Given the description of an element on the screen output the (x, y) to click on. 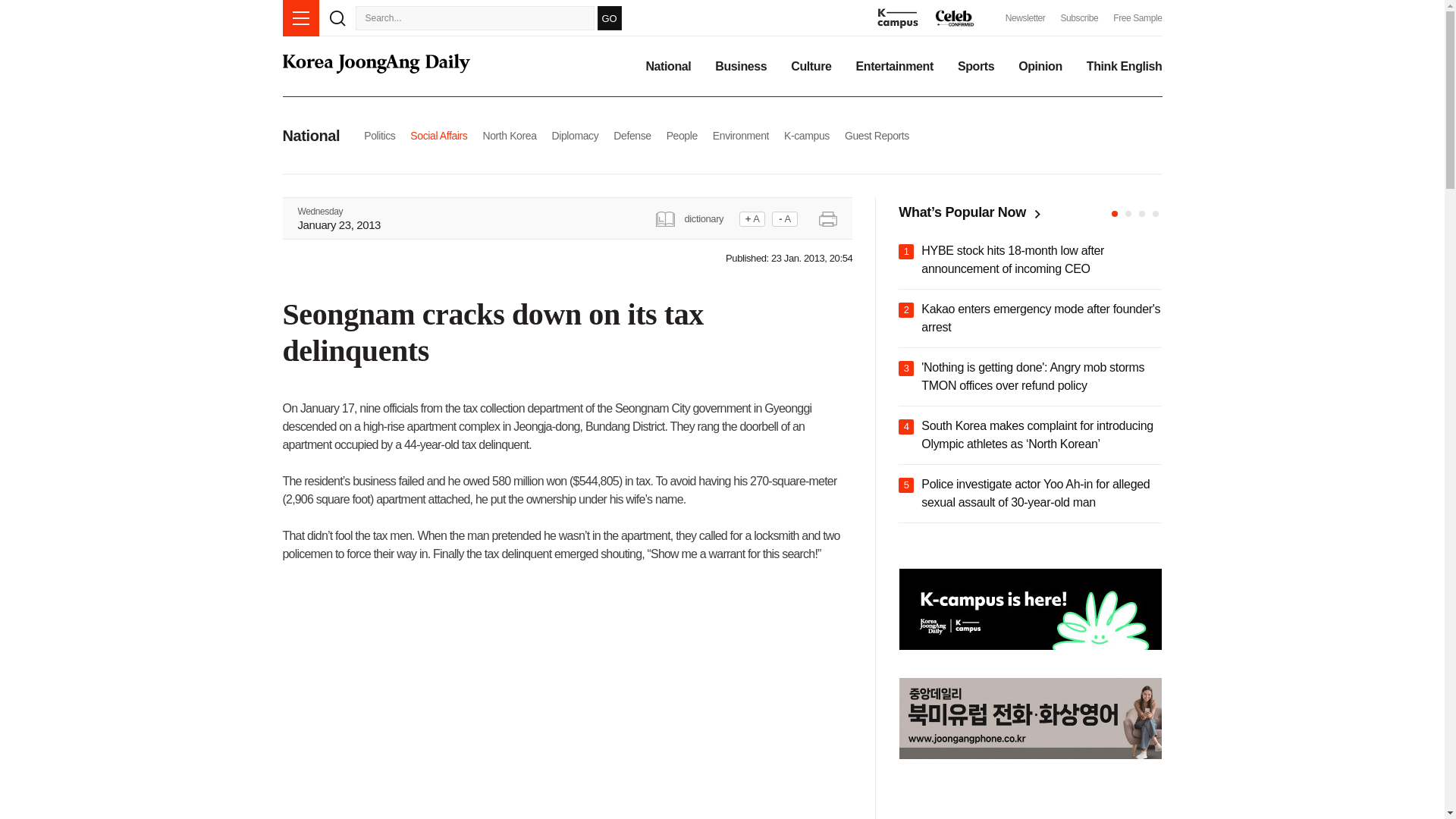
People (681, 135)
Newsletter (1025, 18)
Defense (631, 135)
Think English (1123, 66)
Diplomacy (574, 135)
People (681, 135)
Diplomacy (574, 135)
GO (608, 17)
Politics (379, 135)
Environment (740, 135)
Free Sample (1137, 18)
Subscribe (1078, 18)
National (667, 66)
Opinion (1039, 66)
Politics (379, 135)
